Given the description of an element on the screen output the (x, y) to click on. 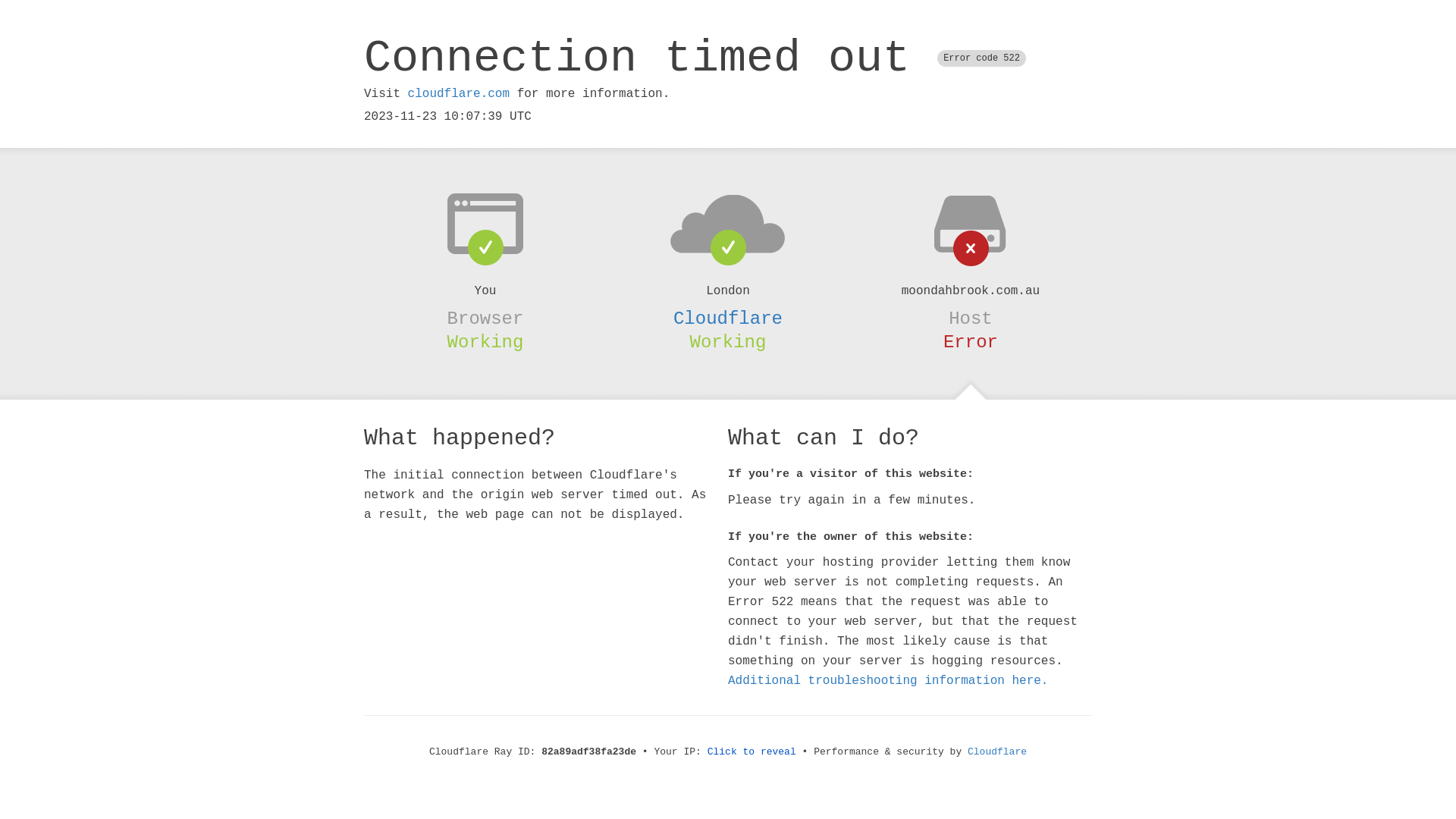
Cloudflare Element type: text (996, 751)
Additional troubleshooting information here. Element type: text (888, 680)
Click to reveal Element type: text (751, 751)
Cloudflare Element type: text (727, 318)
cloudflare.com Element type: text (458, 93)
